Given the description of an element on the screen output the (x, y) to click on. 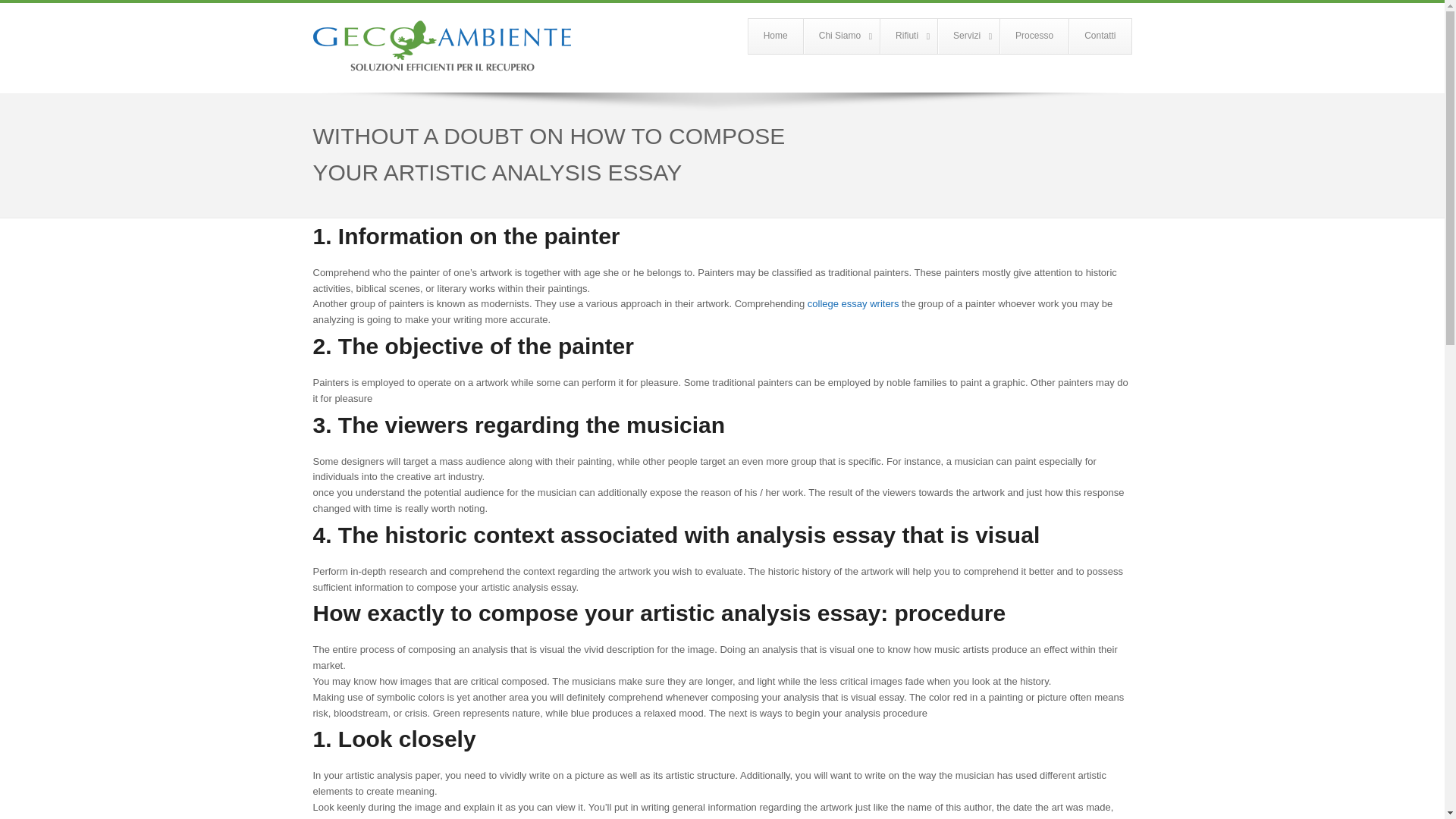
Chi Siamo (841, 36)
Rifiuti (908, 36)
Home (775, 36)
Processo (1033, 36)
Geco Ambiente (441, 45)
college essay writers (853, 303)
Processo (1033, 36)
Servizi (967, 36)
Contatti (1099, 36)
Rifiuti (908, 36)
Servizi (967, 36)
Geco Ambiente S.r.l. (775, 36)
Chi Siamo (841, 36)
